Given the description of an element on the screen output the (x, y) to click on. 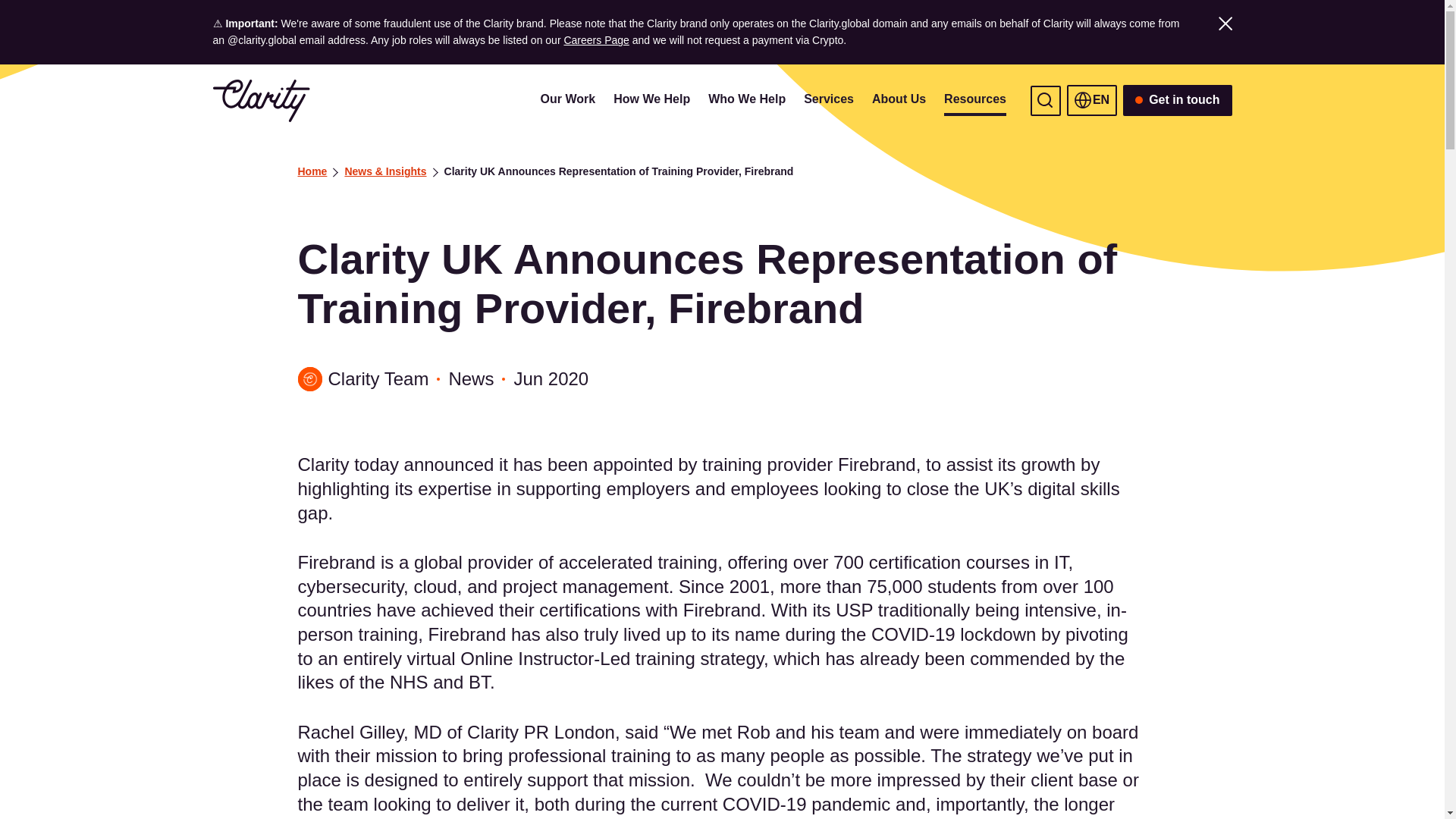
Who We Help (746, 100)
Select to close (1224, 23)
Clarity Global (260, 100)
Our Work (567, 100)
Careers Page (595, 39)
Skip To Main Content (228, 101)
Services (828, 100)
